Given the description of an element on the screen output the (x, y) to click on. 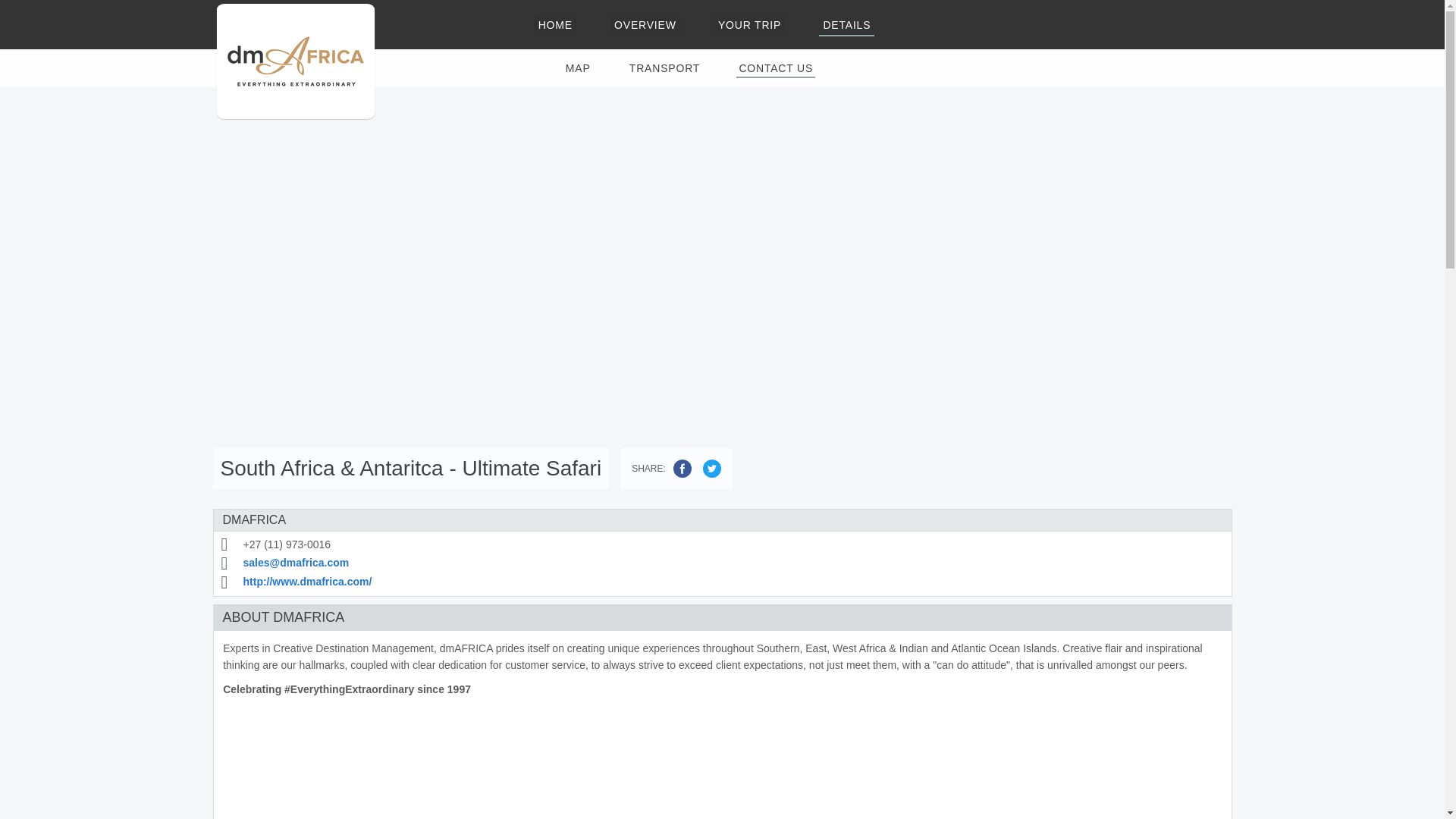
OVERVIEW (645, 24)
YOUR TRIP (748, 24)
CONTACT US (775, 68)
MAP (577, 67)
TRANSPORT (664, 67)
DETAILS (846, 24)
HOME (555, 24)
